Given the description of an element on the screen output the (x, y) to click on. 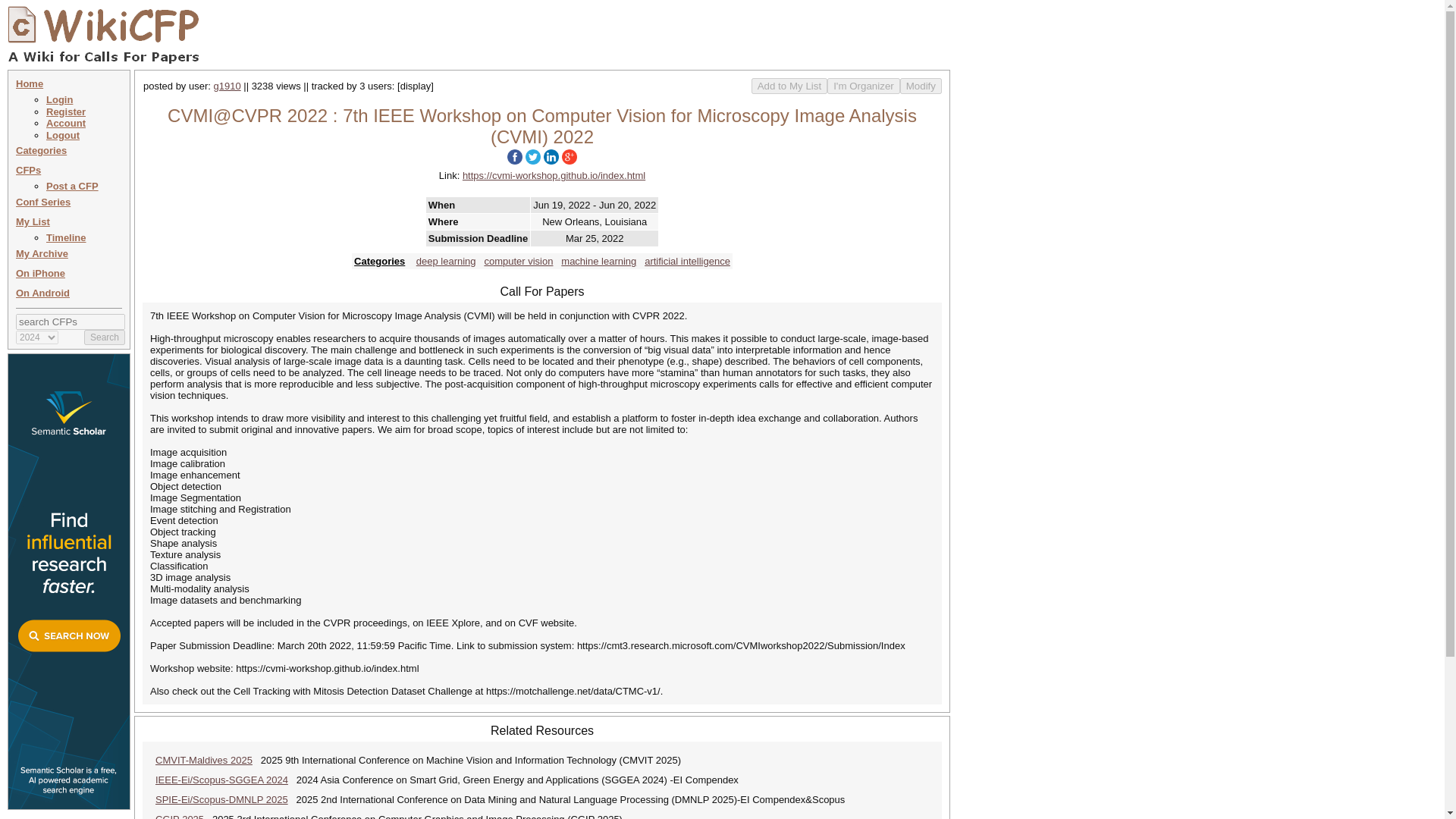
Timeline (65, 237)
My List (32, 221)
computer vision (518, 260)
On iPhone (40, 273)
My Archive (42, 253)
Categories (378, 260)
g1910 (227, 85)
CMVIT-Maldives 2025 (203, 759)
Search (104, 337)
Account (65, 122)
